Given the description of an element on the screen output the (x, y) to click on. 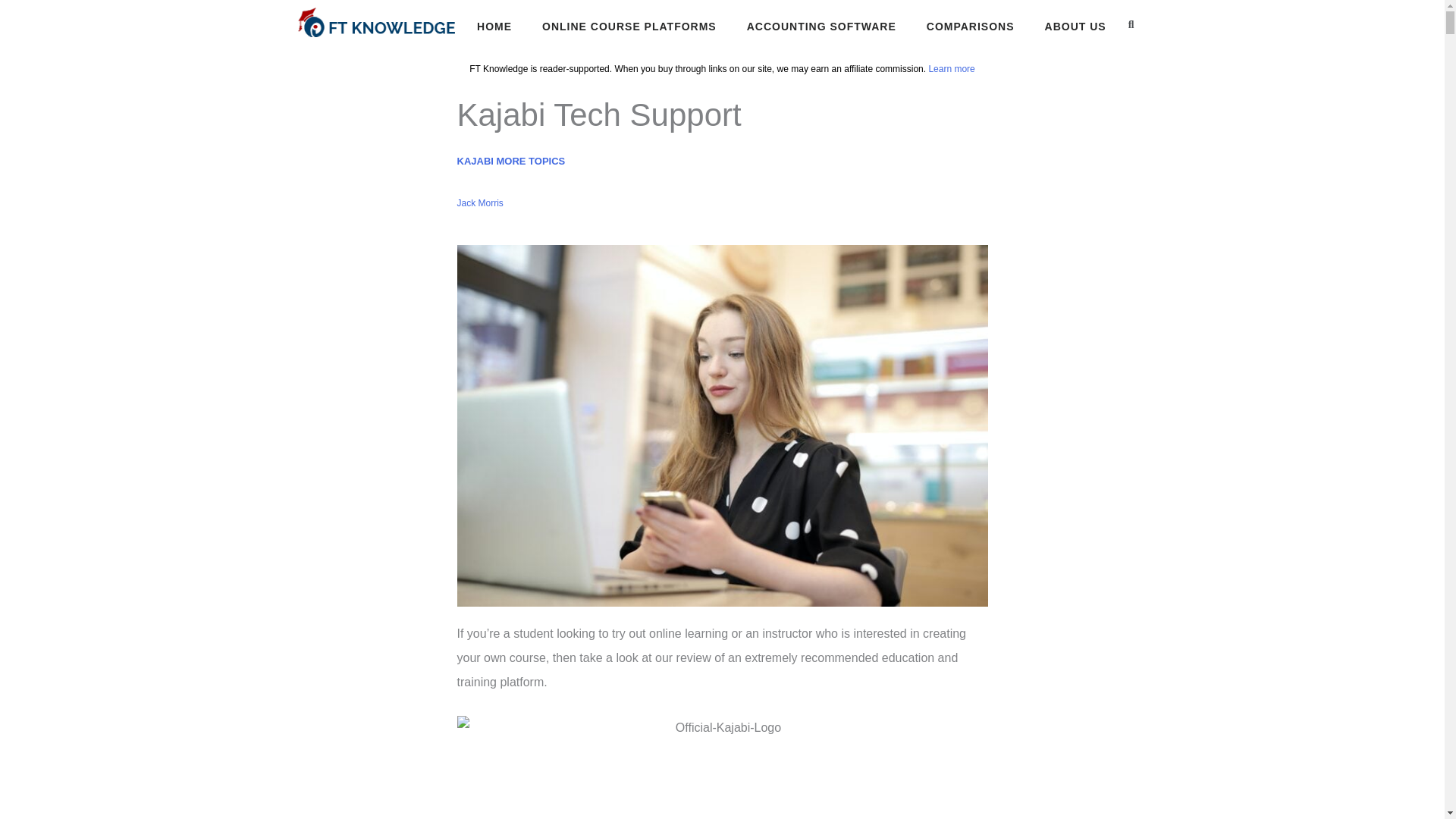
ABOUT US (1075, 26)
Learn more (951, 68)
Jack Morris (479, 202)
Kajabi Tech Support (722, 767)
ONLINE COURSE PLATFORMS (628, 26)
COMPARISONS (970, 26)
HOME (494, 26)
ACCOUNTING SOFTWARE (821, 26)
KAJABI MORE TOPICS (510, 161)
